Given the description of an element on the screen output the (x, y) to click on. 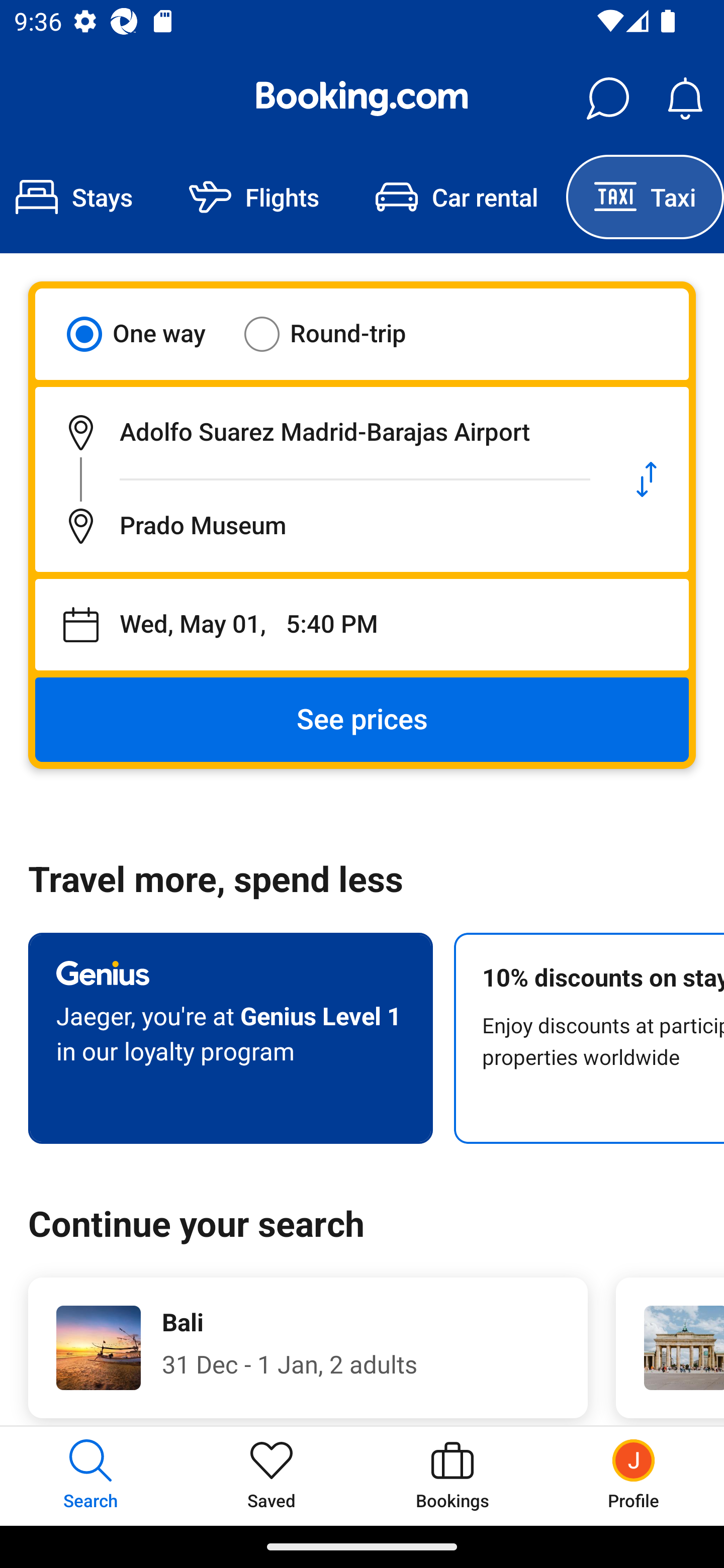
Messages (607, 98)
Notifications (685, 98)
Stays (80, 197)
Flights (253, 197)
Car rental (456, 197)
Taxi (645, 197)
Round-trip (337, 333)
Swap pick-up location and destination (646, 479)
Destination: Prado Museum (319, 525)
Pick-up date: Wed, May 01 5:40 PM (361, 624)
See prices (361, 719)
Bali 31 Dec - 1 Jan, 2 adults (307, 1347)
Saved (271, 1475)
Bookings (452, 1475)
Profile (633, 1475)
